Given the description of an element on the screen output the (x, y) to click on. 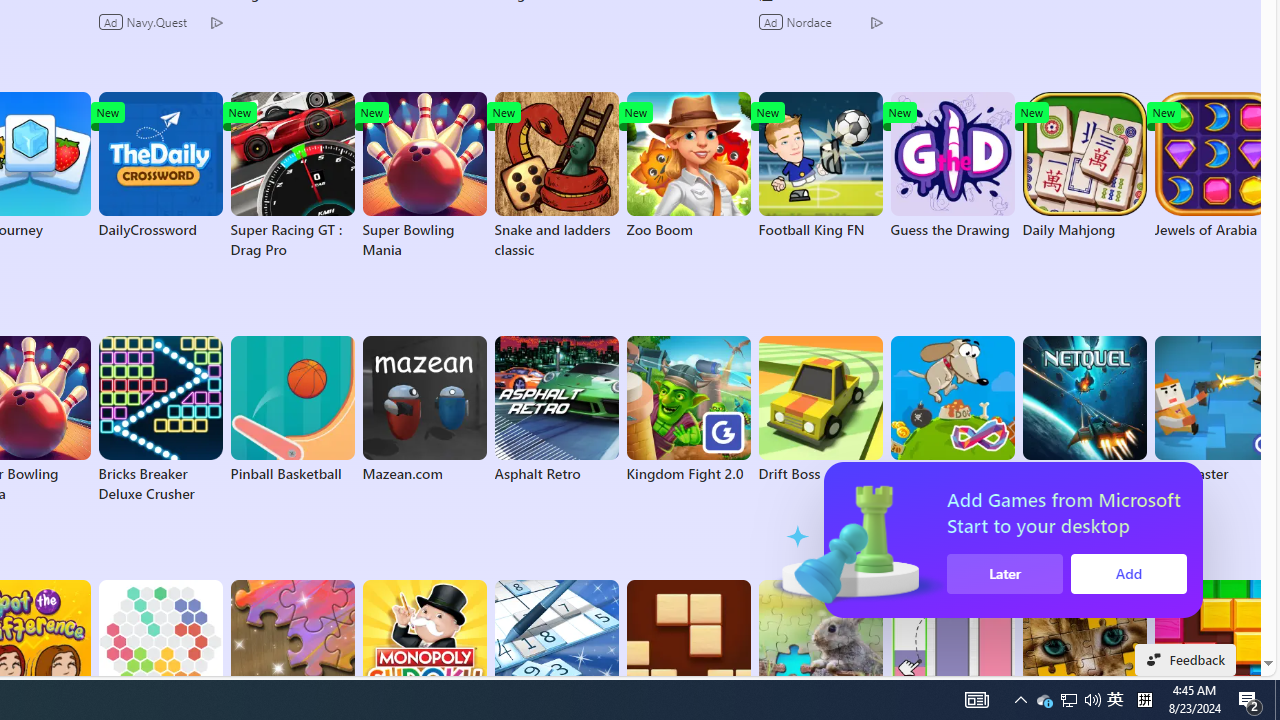
Zoo Boom (688, 165)
Super Racing GT : Drag Pro (292, 175)
Football King FN (820, 165)
Pinball Basketball (292, 409)
Hungry Dog FRVR (952, 409)
Guess the Drawing (952, 165)
